Given the description of an element on the screen output the (x, y) to click on. 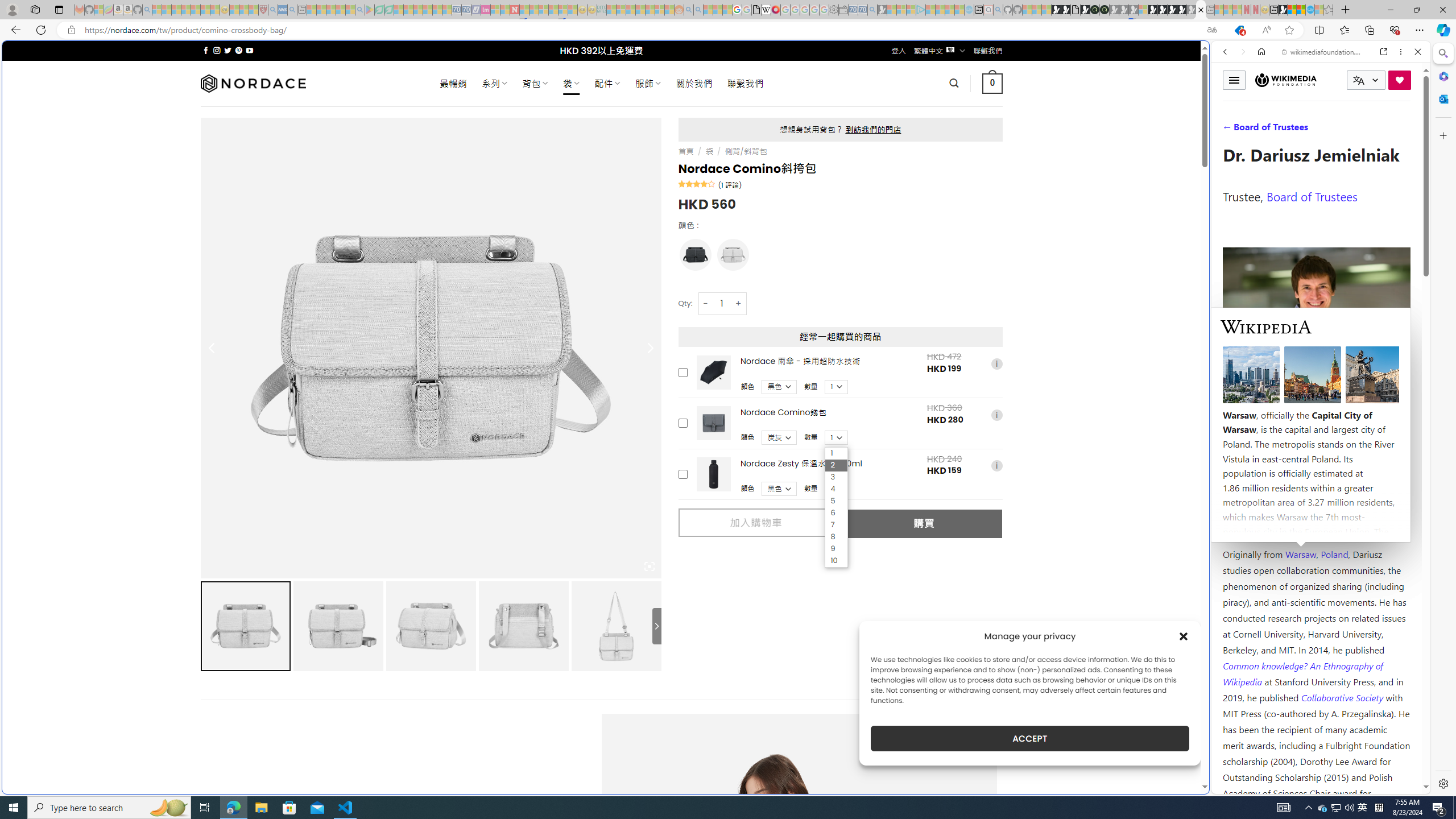
Class: iconic-woothumbs-fullscreen (649, 566)
Wikimedia Foundation (1285, 79)
8 (836, 536)
Wiktionary (1315, 380)
Profile on Meta-Wiki (1273, 405)
